Given the description of an element on the screen output the (x, y) to click on. 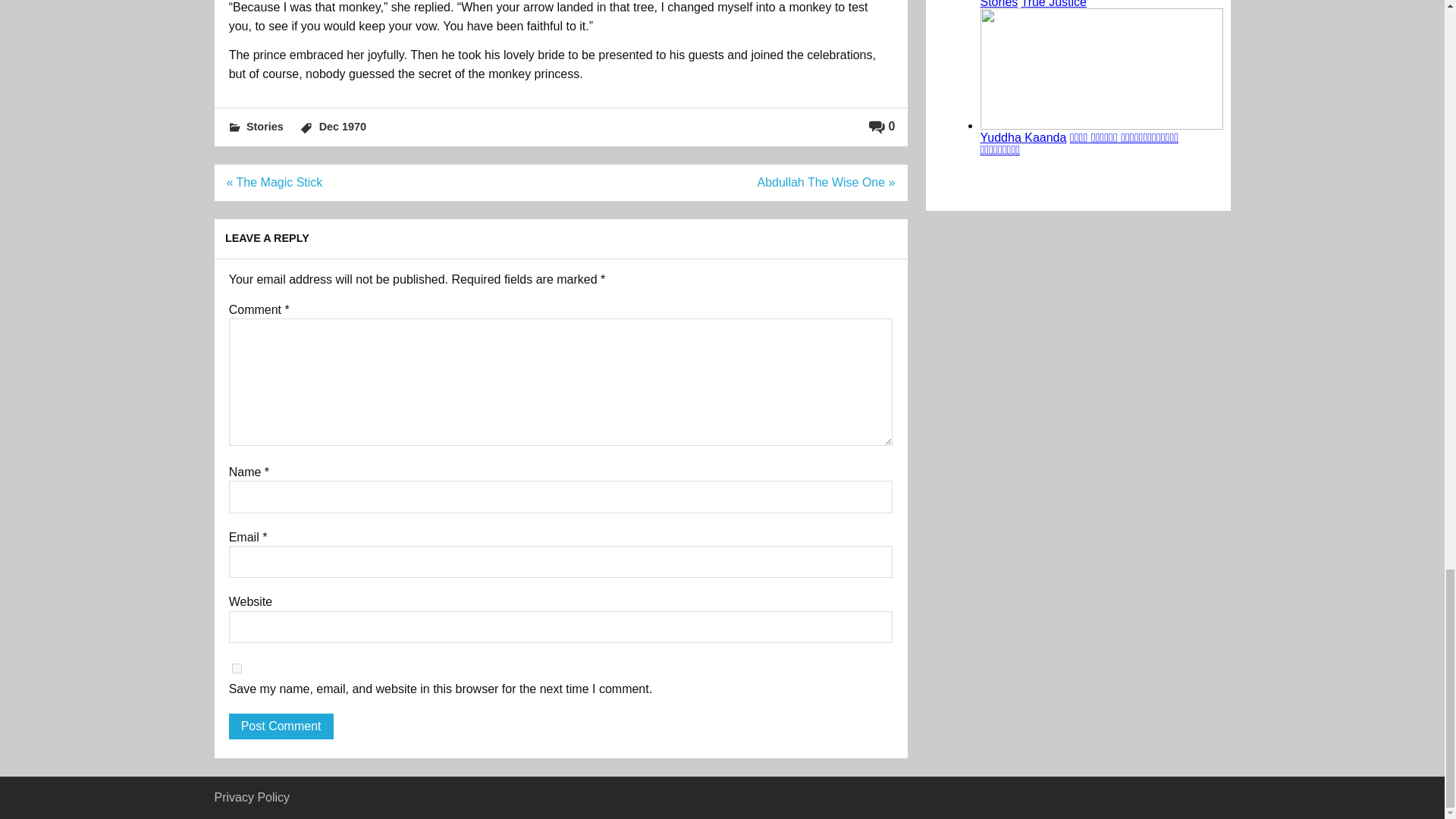
0 (882, 125)
Post Comment (280, 726)
Post Comment (280, 726)
Dec 1970 (342, 126)
Privacy Policy (251, 797)
yes (236, 668)
Stories (264, 126)
